Given the description of an element on the screen output the (x, y) to click on. 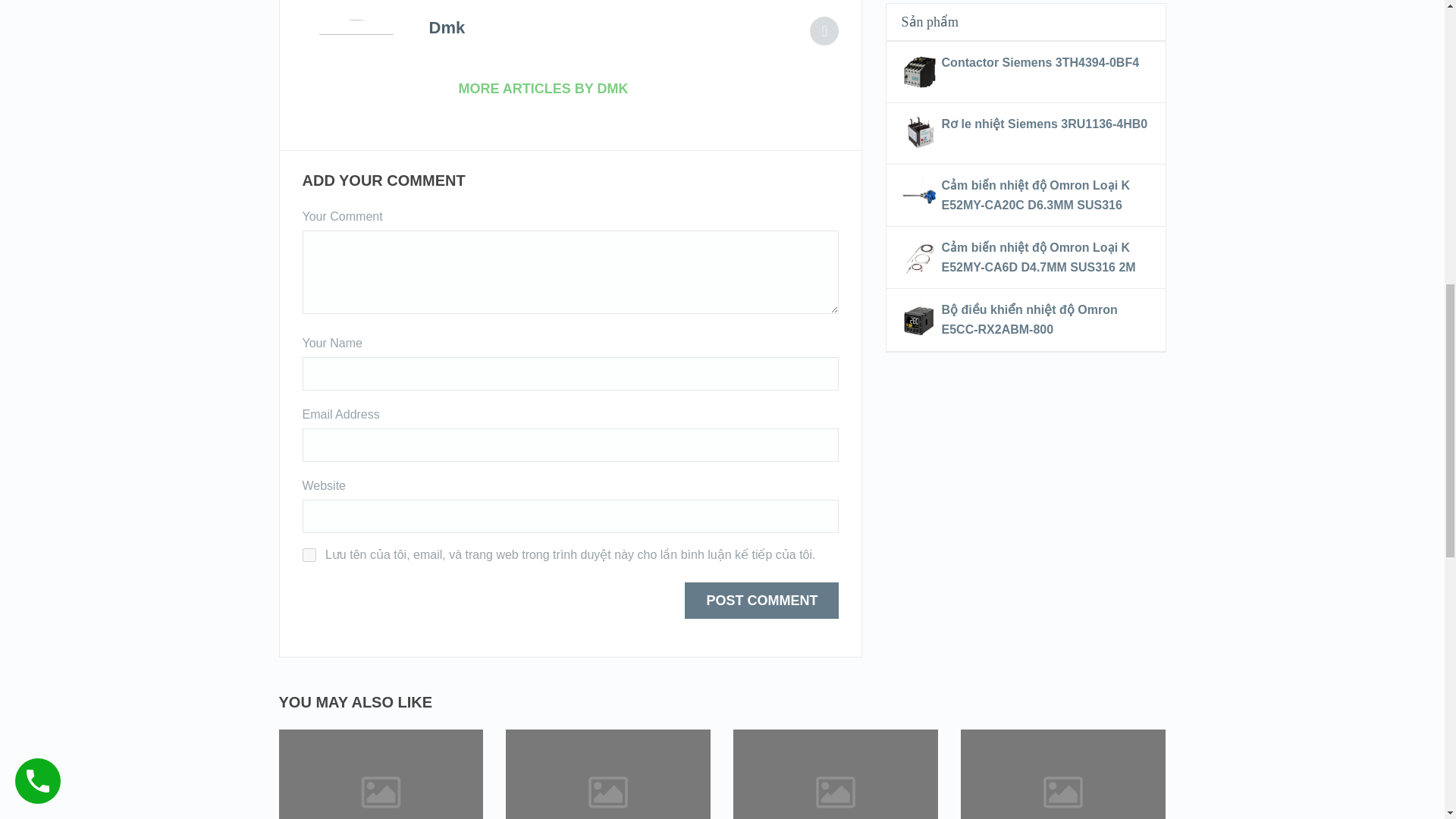
Post Comment (761, 600)
yes (308, 554)
